Given the description of an element on the screen output the (x, y) to click on. 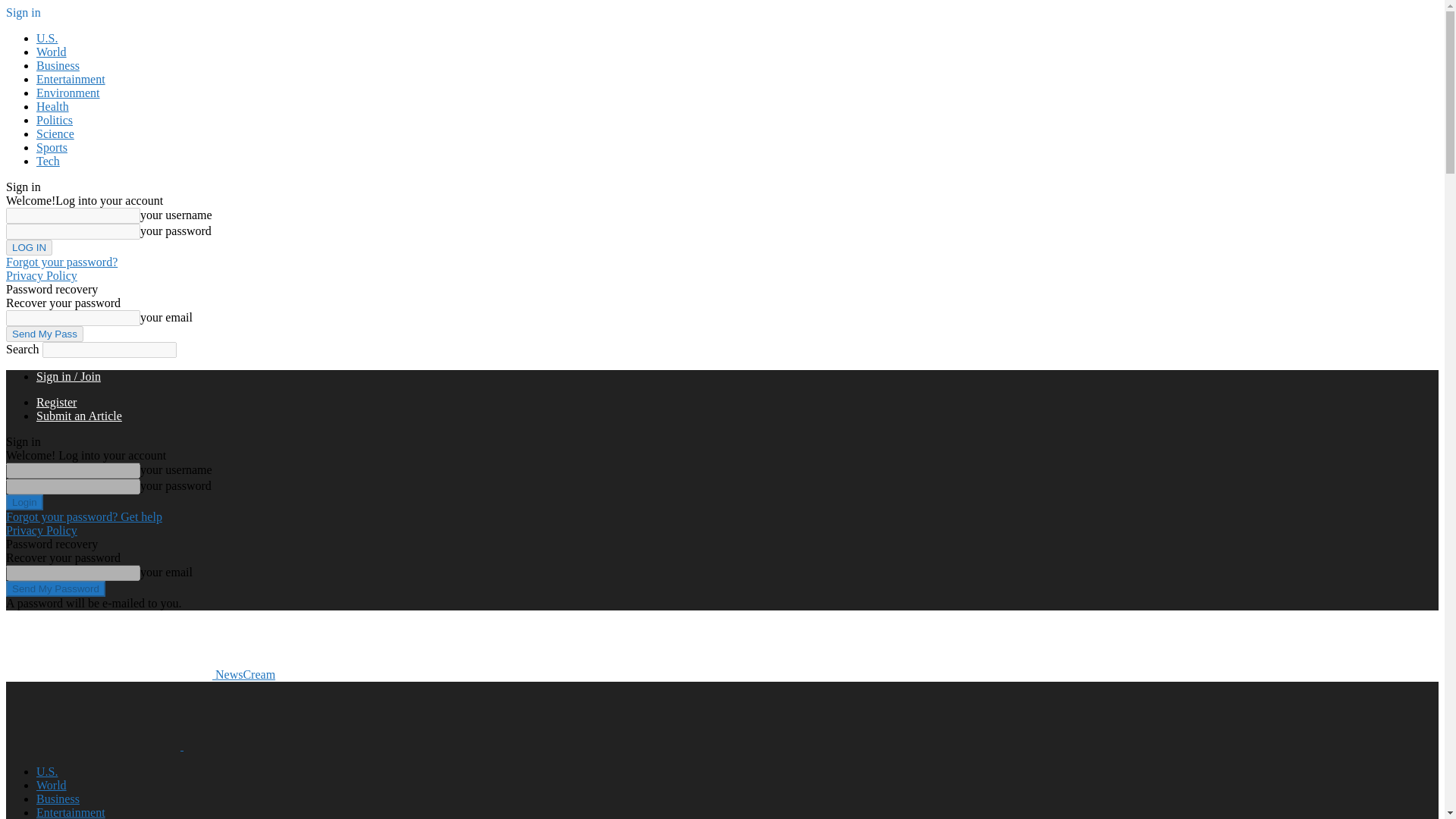
Login (24, 502)
Business (58, 798)
Business (58, 65)
NewsCream Logo (108, 644)
Send My Pass (43, 333)
Sign in (22, 11)
Privacy Policy (41, 275)
World (51, 51)
Send My Password (54, 588)
Entertainment (70, 78)
Submit an Article (79, 415)
Tech (47, 160)
NewsCream Logo (92, 715)
NewsCream Logo (270, 715)
NewsCream (140, 674)
